Given the description of an element on the screen output the (x, y) to click on. 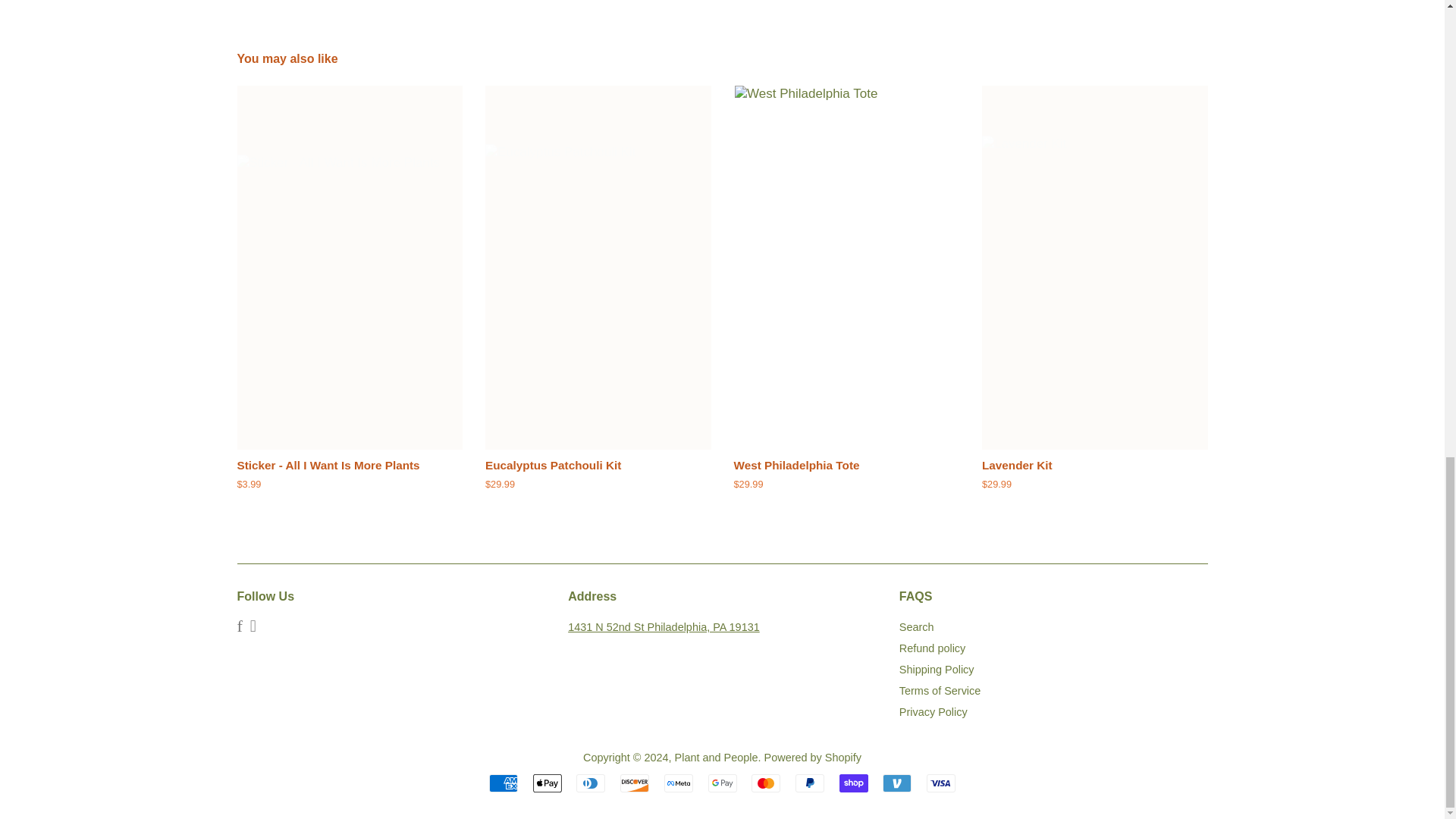
Shop Pay (853, 782)
PayPal (809, 782)
Visa (940, 782)
Google Pay (721, 782)
American Express (503, 782)
Mastercard (765, 782)
Diners Club (590, 782)
Discover (634, 782)
Venmo (896, 782)
Meta Pay (678, 782)
